Given the description of an element on the screen output the (x, y) to click on. 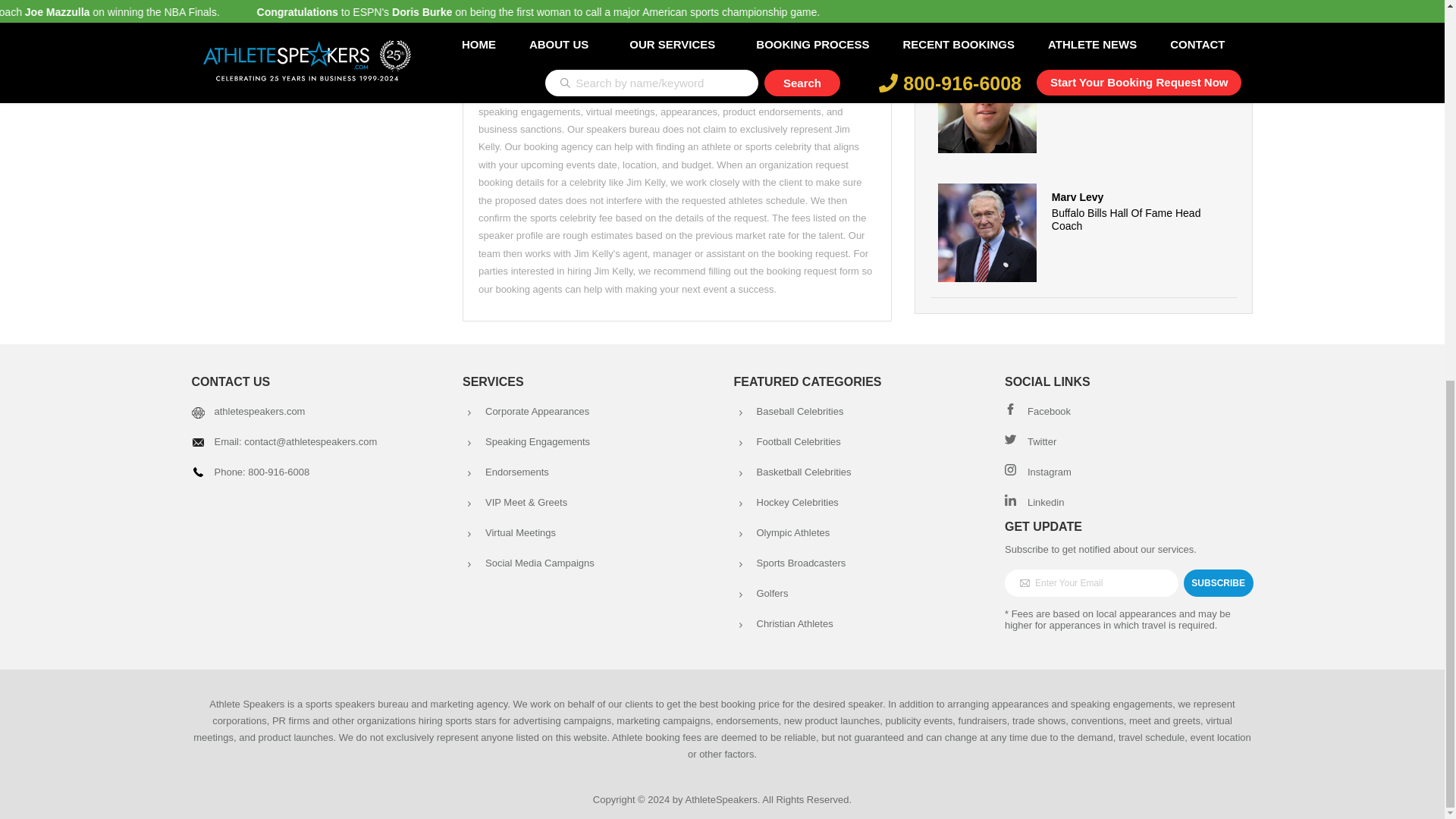
Book Jim Kelly For Your Next Event (677, 36)
Speaking Engagements (536, 441)
Steve Tasker Former Buffalo Bills All-Pro Receiver (1083, 103)
Corporate Appearances (536, 410)
Phone: 800-916-6008 (261, 471)
Marv Levy Buffalo Bills Hall Of Fame Head Coach (1083, 233)
